Given the description of an element on the screen output the (x, y) to click on. 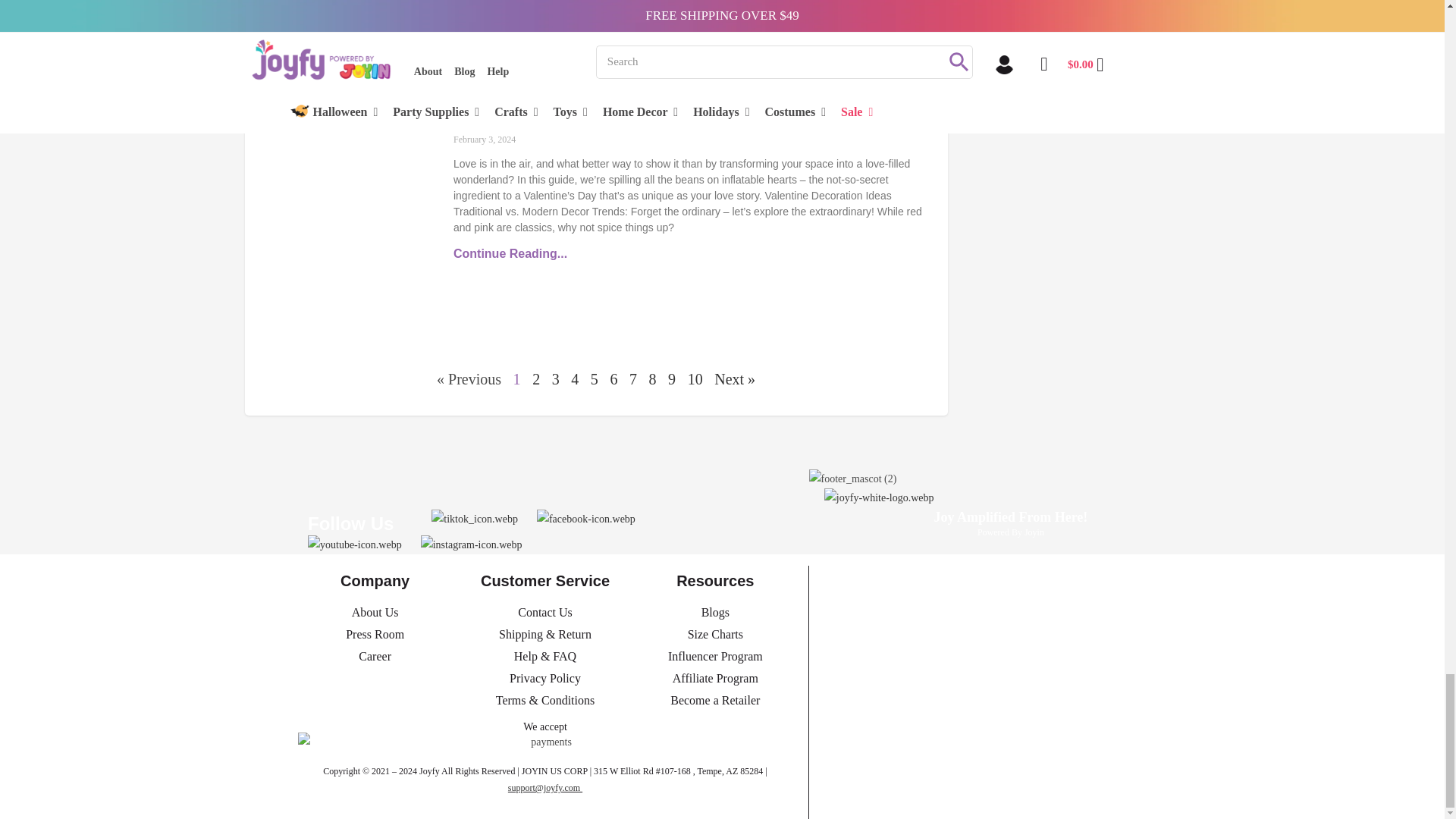
instagram-icon.webp (471, 544)
youtube-icon.webp (354, 544)
joyfy-white-logo.webp (879, 521)
facebook-icon.webp (585, 518)
